Given the description of an element on the screen output the (x, y) to click on. 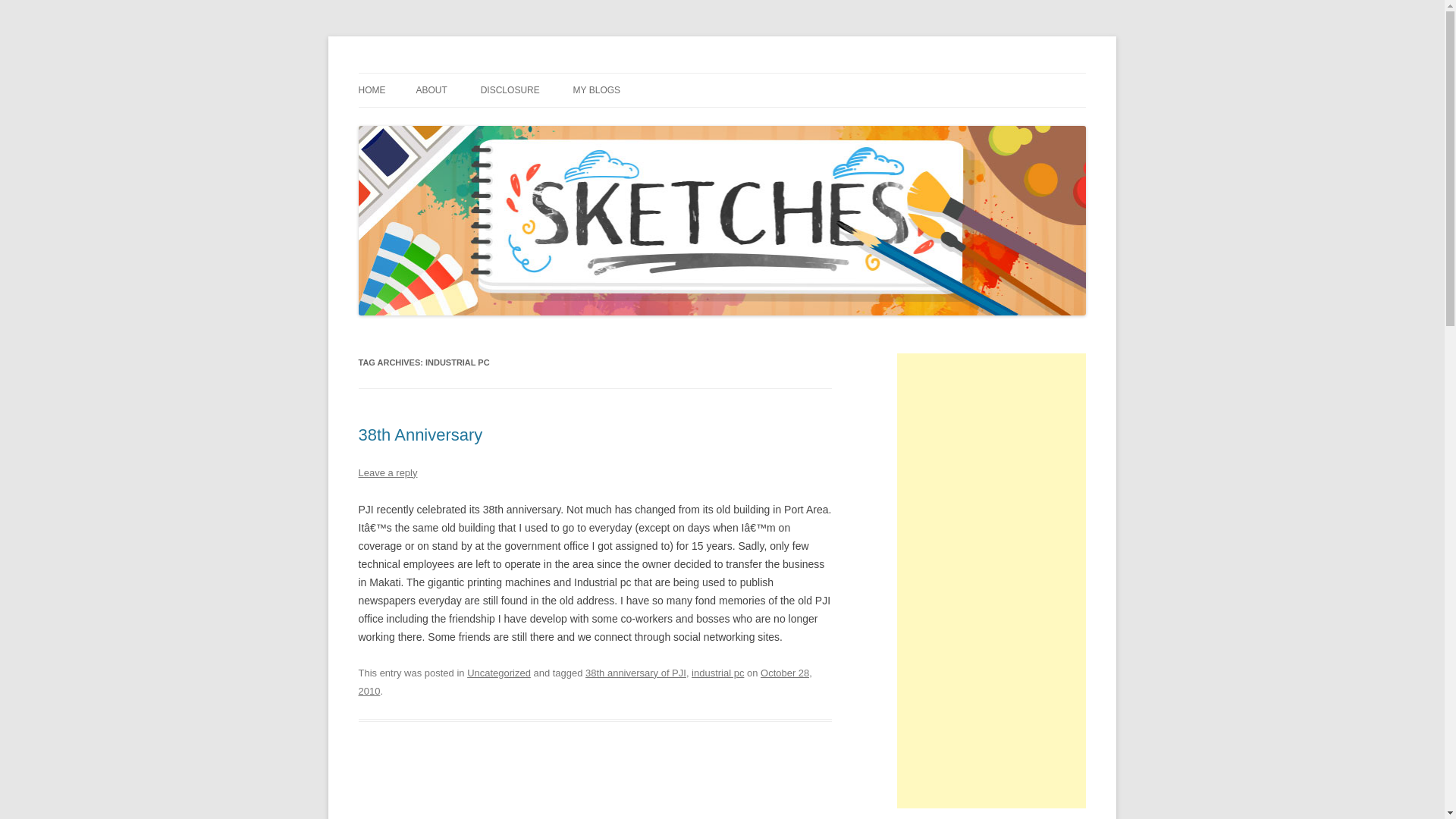
38th anniversary of PJI (635, 672)
Uncategorized (499, 672)
October 28, 2010 (584, 681)
7:51 pm (584, 681)
industrial pc (717, 672)
Leave a reply (387, 472)
MY BLOGS (596, 90)
DISCLOSURE (510, 90)
Sketches (401, 72)
